Given the description of an element on the screen output the (x, y) to click on. 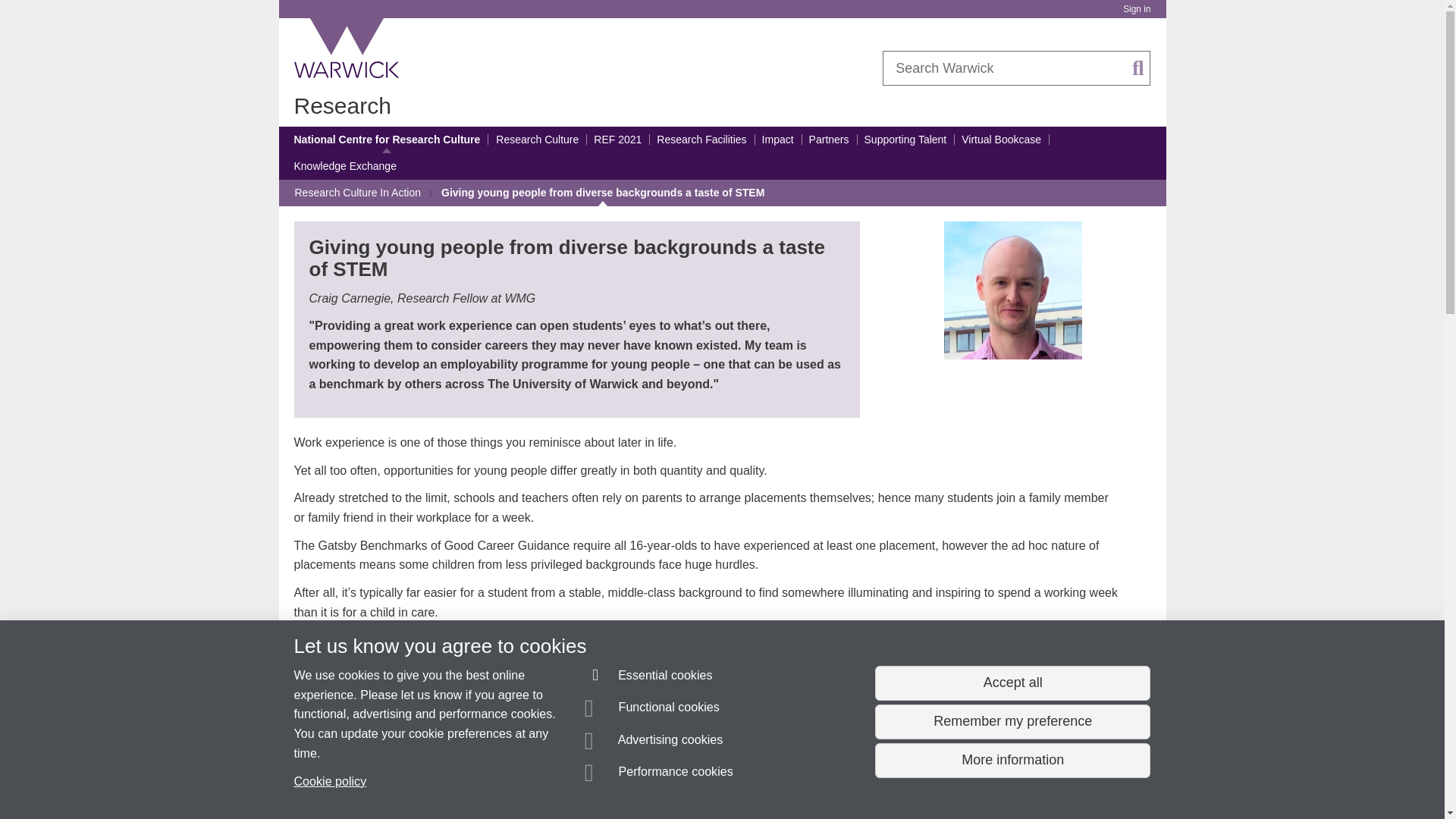
Accept all functional, advertising and performance cookies (1012, 683)
Research (342, 105)
REF 2021 (618, 139)
Virtual Bookcase (1000, 139)
Research Culture (537, 139)
Essential cookies are always on (649, 677)
Knowledge Exchange (345, 166)
